Given the description of an element on the screen output the (x, y) to click on. 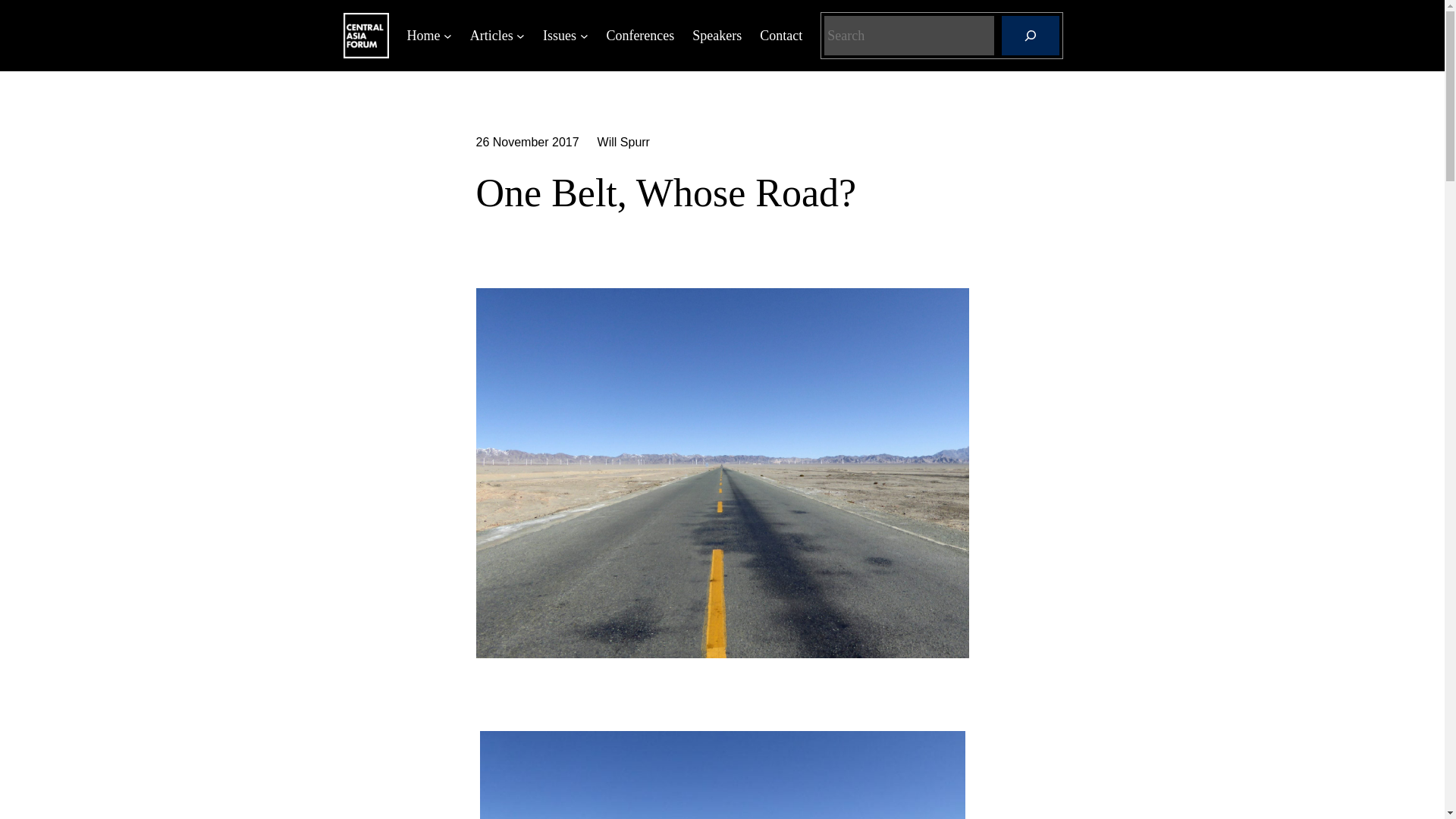
Speakers (717, 35)
Articles (491, 35)
Contact (781, 35)
Conferences (639, 35)
Home (422, 35)
Issues (559, 35)
